Given the description of an element on the screen output the (x, y) to click on. 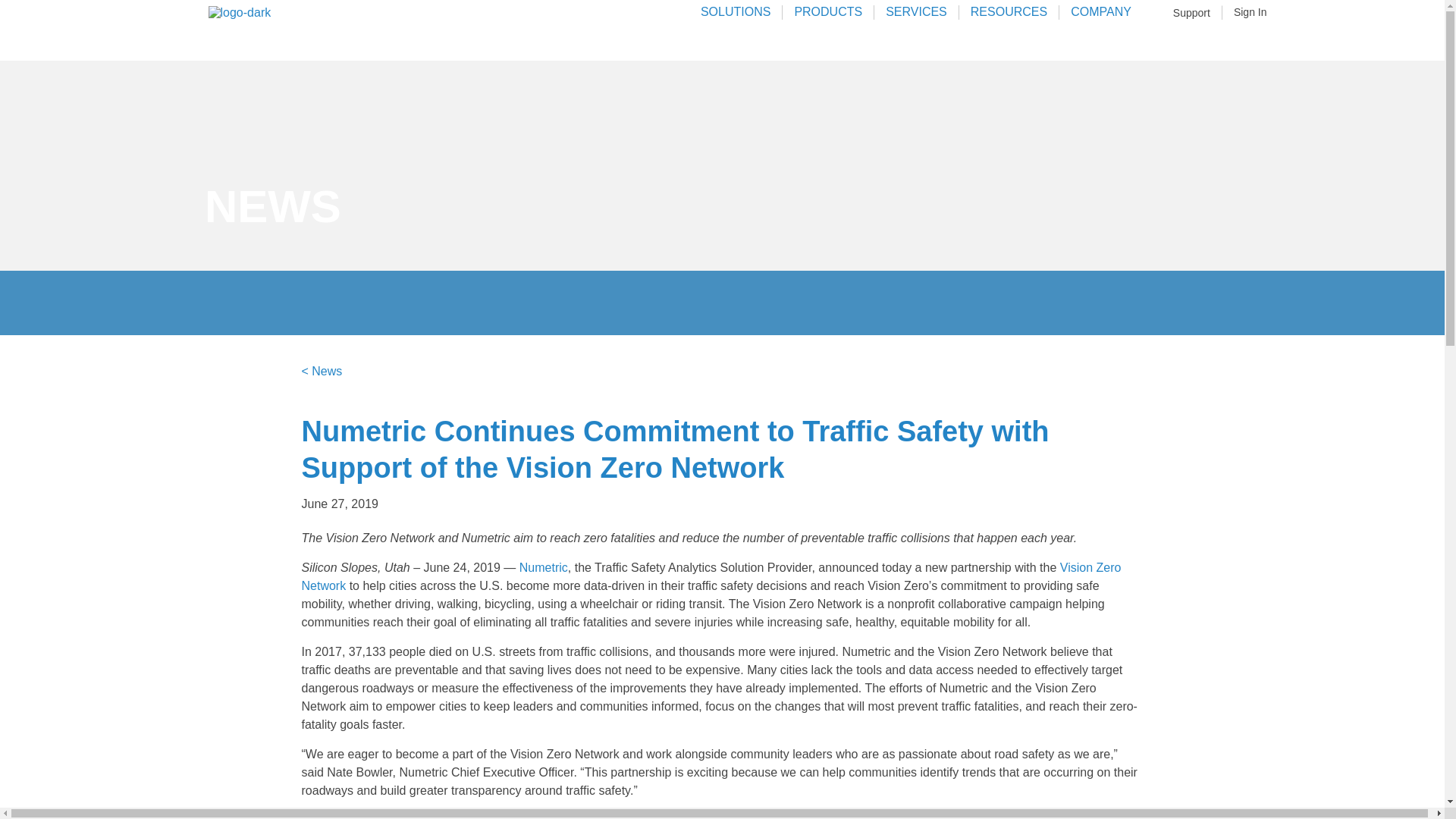
Vision Zero Network (711, 576)
SOLUTIONS (734, 20)
PRODUCTS (828, 20)
PRODUCTS (828, 20)
Support (1191, 13)
SOLUTIONS (734, 20)
Numetric (543, 567)
COMPANY (1100, 20)
RESOURCES (1008, 20)
SERVICES (916, 20)
Sign In (1250, 13)
